Given the description of an element on the screen output the (x, y) to click on. 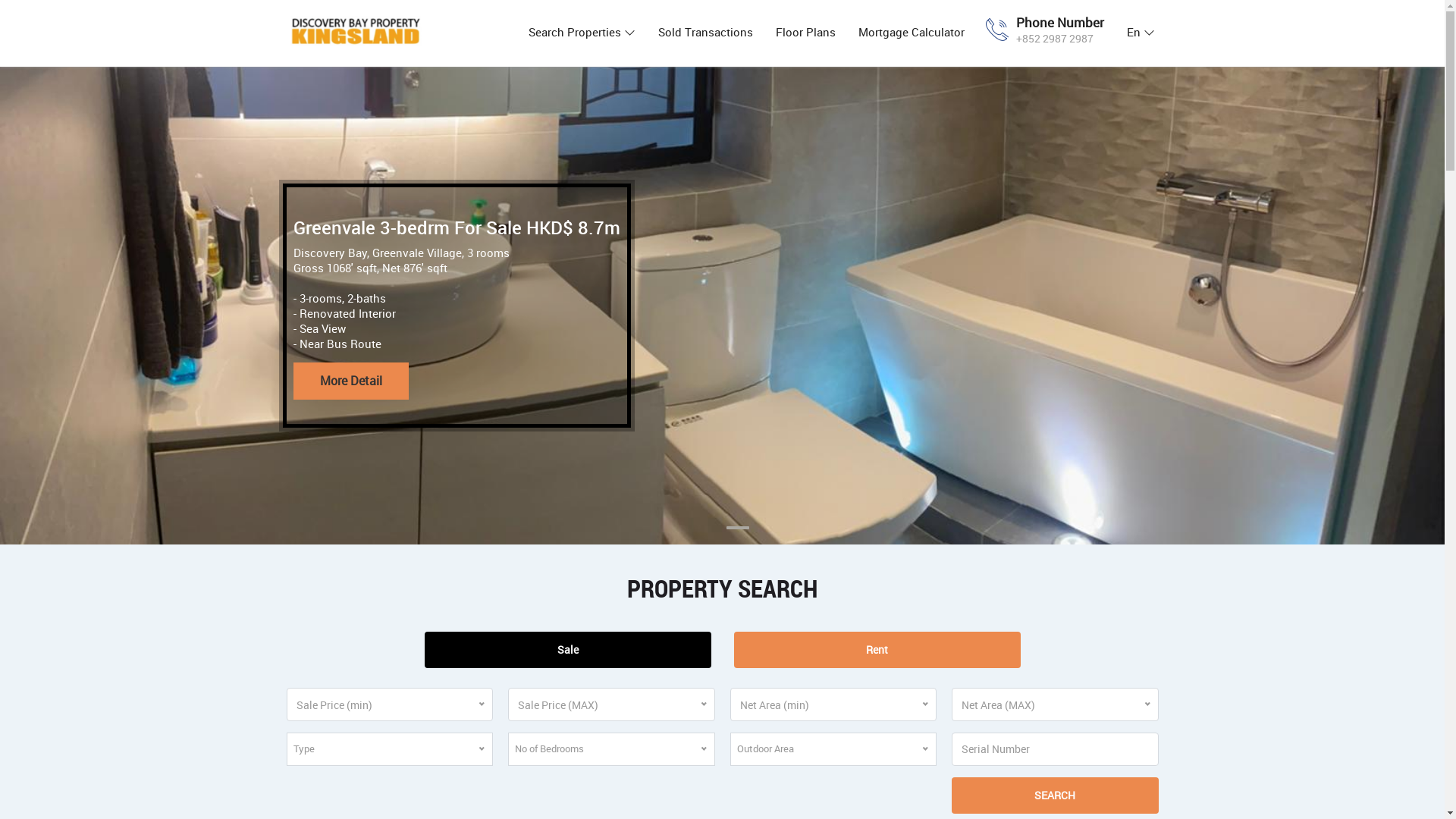
Sale Element type: text (567, 649)
En  Element type: text (1139, 31)
Search Properties  Element type: text (581, 31)
Outdoor Area Element type: text (833, 749)
No of Bedrooms Element type: text (611, 749)
Sold Transactions Element type: text (704, 31)
Floor Plans Element type: text (805, 31)
Type Element type: text (389, 749)
More Detail Element type: text (350, 380)
Rent Element type: text (877, 649)
Mortgage Calculator Element type: text (910, 31)
SEARCH Element type: text (1054, 795)
